Given the description of an element on the screen output the (x, y) to click on. 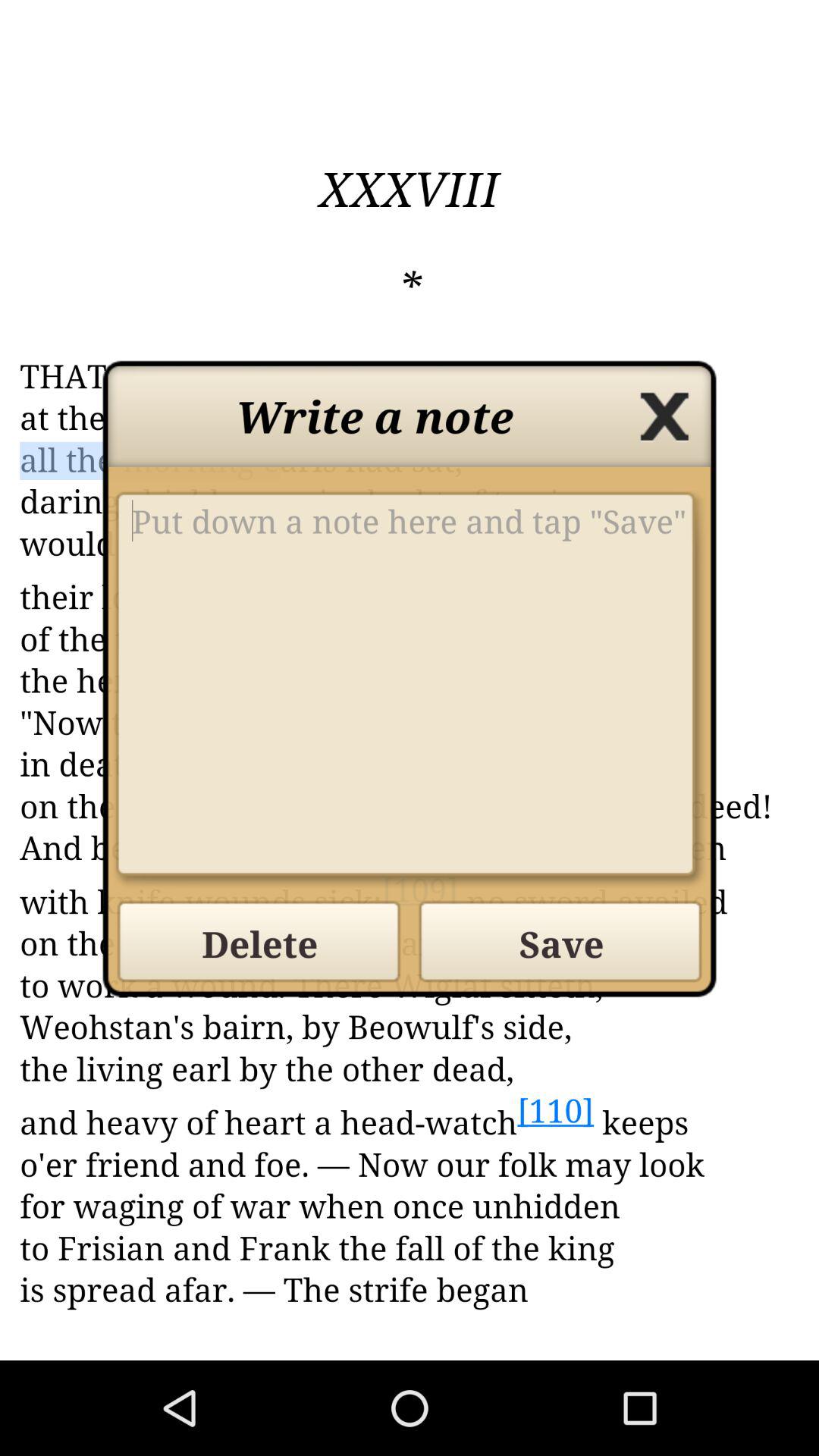
note field (409, 689)
